Given the description of an element on the screen output the (x, y) to click on. 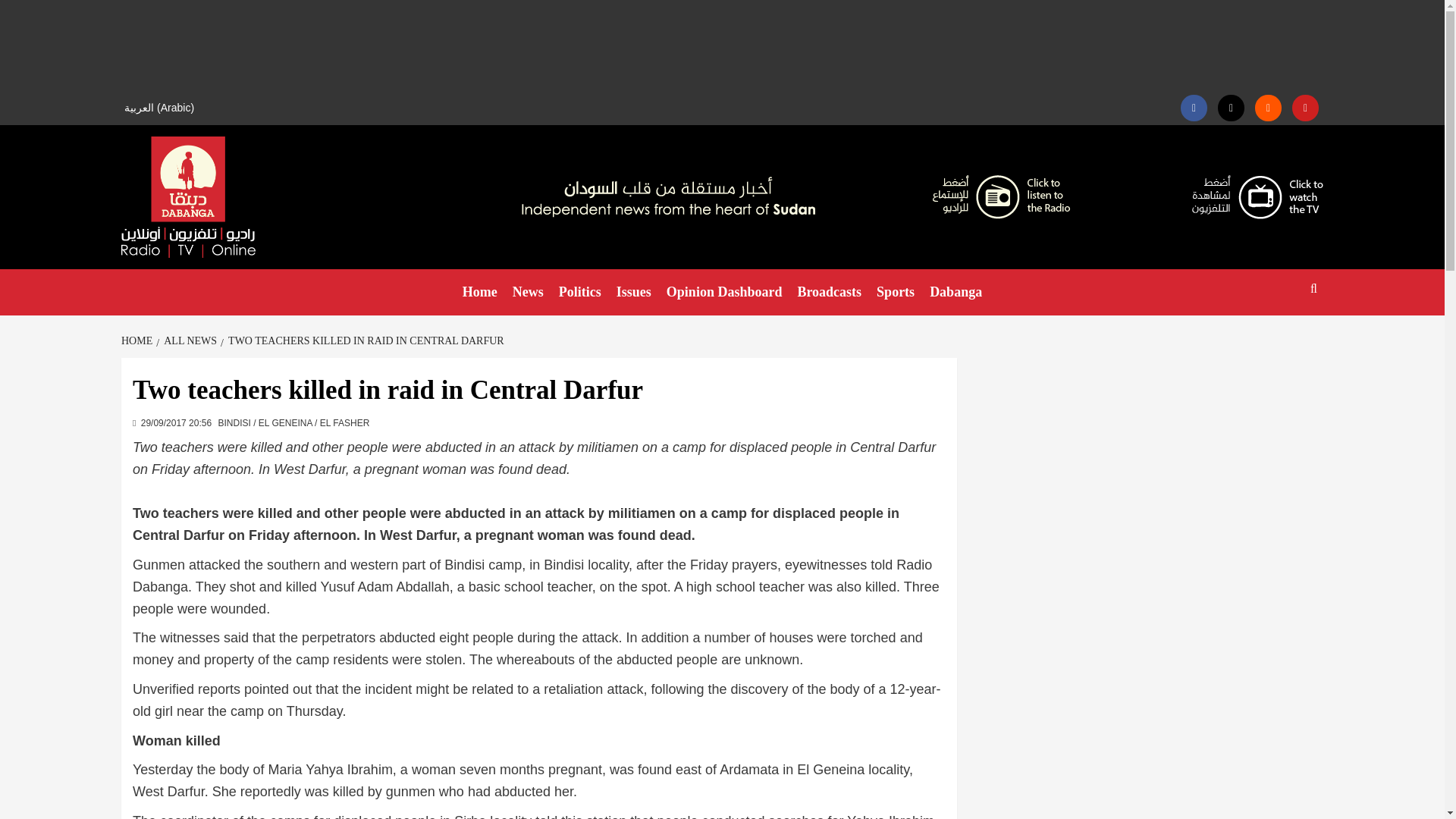
Home (479, 292)
Sports (895, 292)
Politics (579, 292)
Twitter (1230, 108)
Arabic (161, 107)
Youtube (1305, 108)
Dabanga (955, 292)
Soundcloud (1268, 108)
Broadcasts (829, 292)
Opinion Dashboard (724, 292)
